Given the description of an element on the screen output the (x, y) to click on. 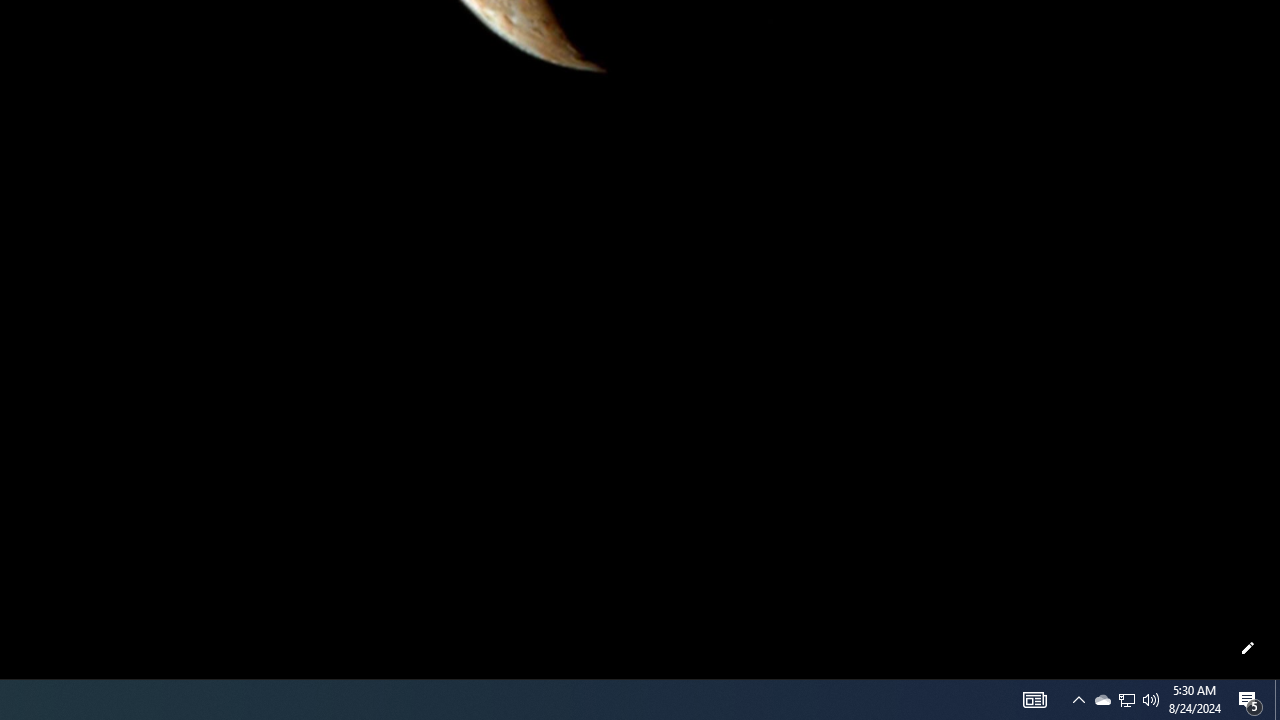
Customize this page (1247, 647)
